Given the description of an element on the screen output the (x, y) to click on. 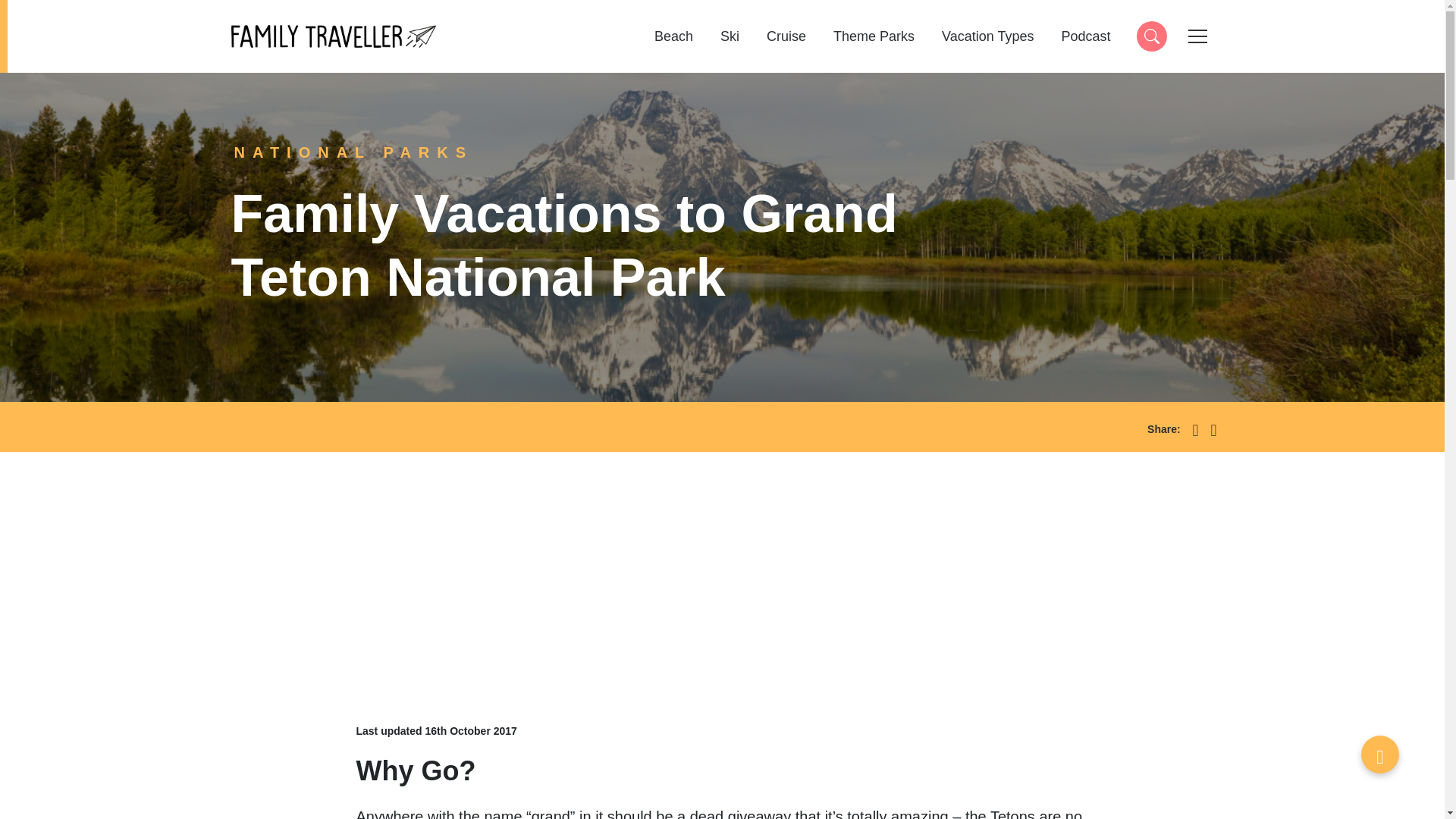
Beach (672, 36)
Vacation Types (987, 36)
Cruise (786, 36)
Theme Parks (873, 36)
Search anything... (1150, 36)
Podcast (1085, 36)
